Given the description of an element on the screen output the (x, y) to click on. 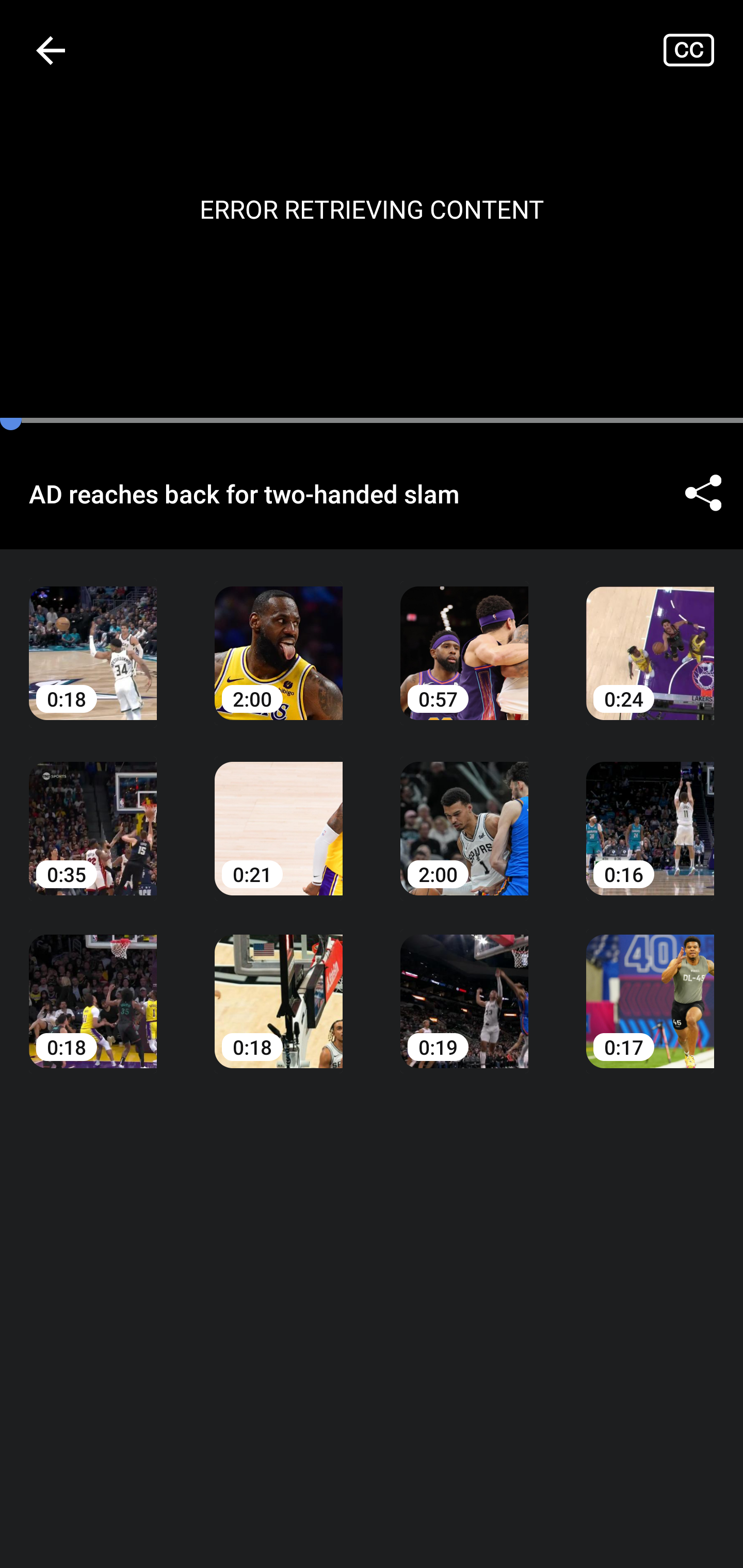
Navigate up (50, 50)
Closed captions  (703, 49)
Share © (703, 493)
0:18 (92, 637)
2:00 (278, 637)
0:57 (464, 637)
0:24 (650, 637)
0:35 (92, 813)
0:21 (278, 813)
2:00 (464, 813)
0:16 (650, 813)
0:18 (92, 987)
0:18 (278, 987)
0:19 (464, 987)
0:17 (650, 987)
